Given the description of an element on the screen output the (x, y) to click on. 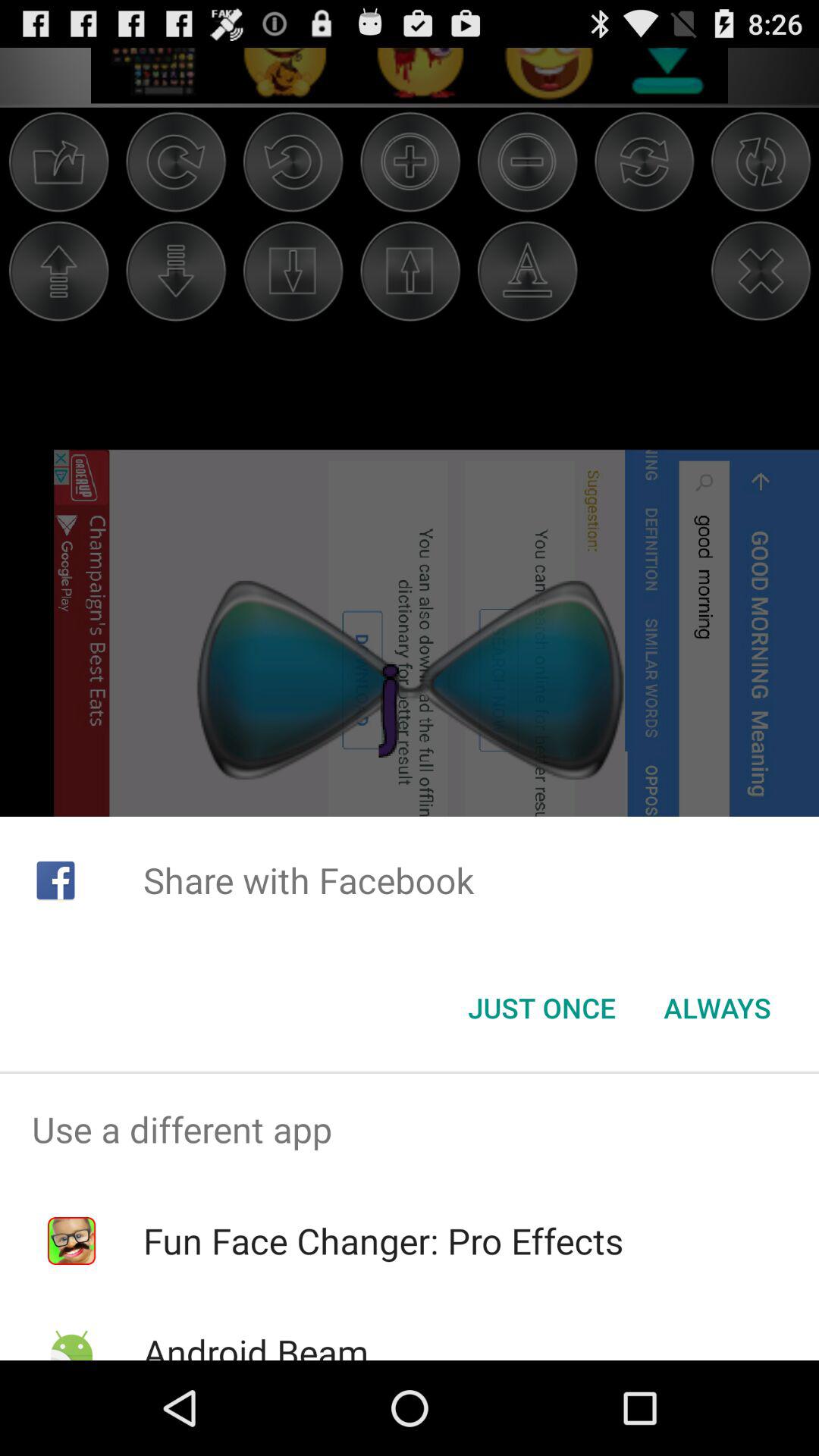
launch icon below the use a different (383, 1240)
